Given the description of an element on the screen output the (x, y) to click on. 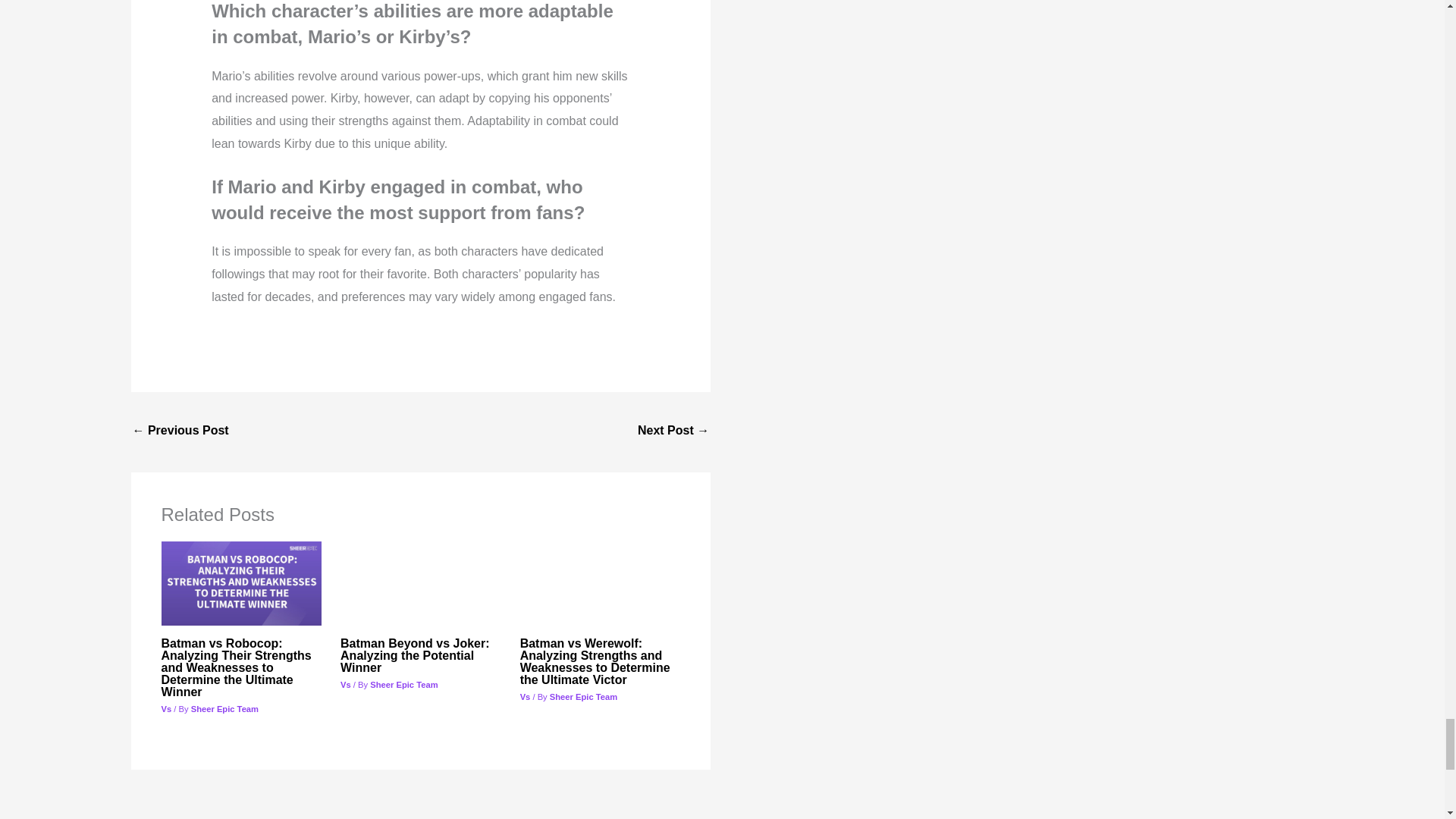
Sheer Epic Team (583, 696)
Vs (345, 684)
Sheer Epic Team (224, 708)
Sheer Epic Team (403, 684)
Mario vs Zelda: Who Would Win? An Expert Analysis (180, 431)
View all posts by Sheer Epic Team (583, 696)
View all posts by Sheer Epic Team (403, 684)
Vs (525, 696)
Vs (165, 708)
